Given the description of an element on the screen output the (x, y) to click on. 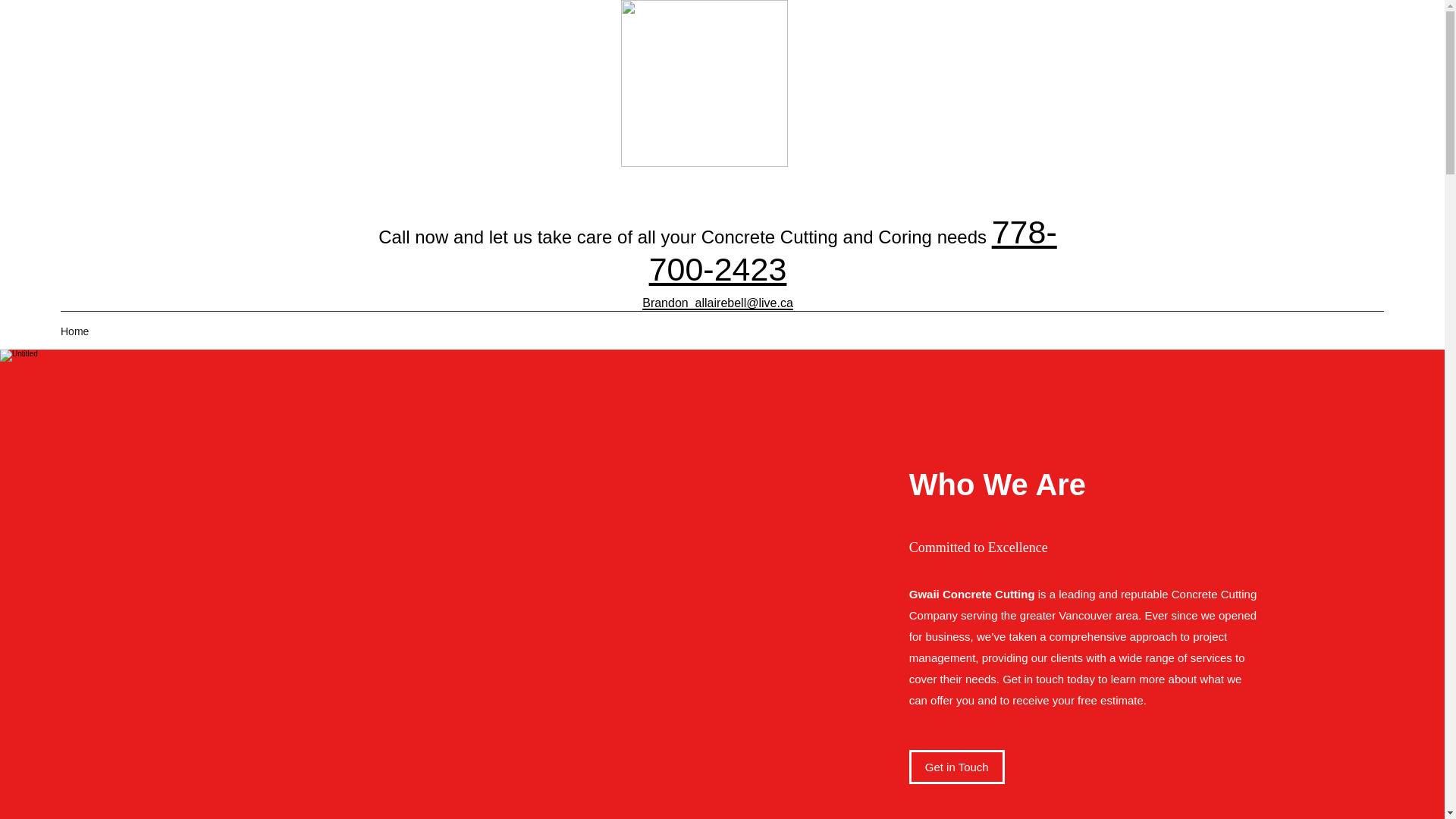
778-700-2423 (853, 250)
Home (74, 331)
Get in Touch (956, 766)
